Given the description of an element on the screen output the (x, y) to click on. 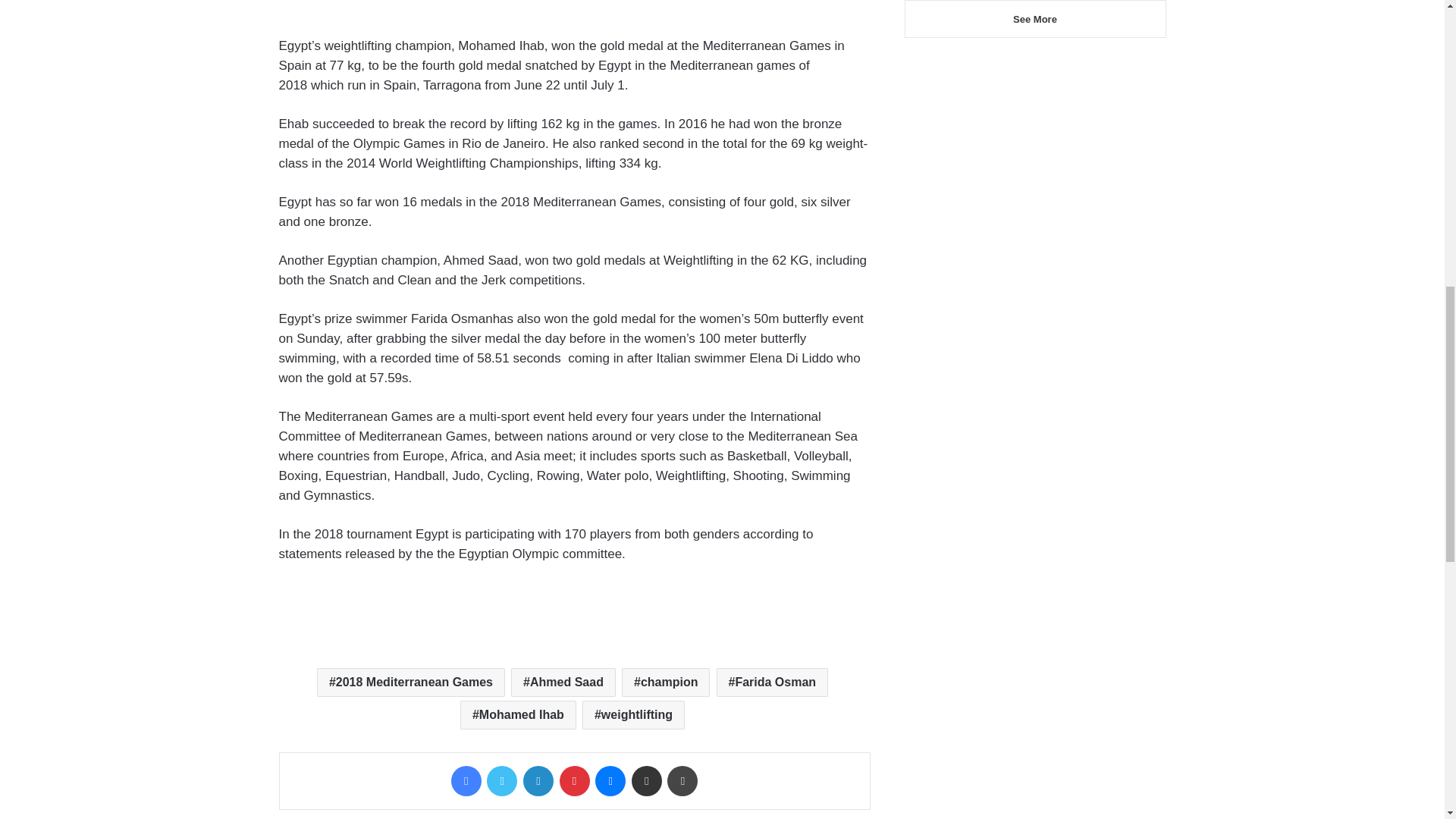
Messenger (610, 780)
Messenger (610, 780)
Twitter (501, 780)
Facebook (466, 780)
Twitter (501, 780)
Facebook (466, 780)
LinkedIn (537, 780)
Pinterest (574, 780)
Pinterest (574, 780)
LinkedIn (537, 780)
Farida Osman (772, 682)
Mohamed Ihab (518, 715)
champion (665, 682)
2018 Mediterranean Games (411, 682)
weightlifting (633, 715)
